Given the description of an element on the screen output the (x, y) to click on. 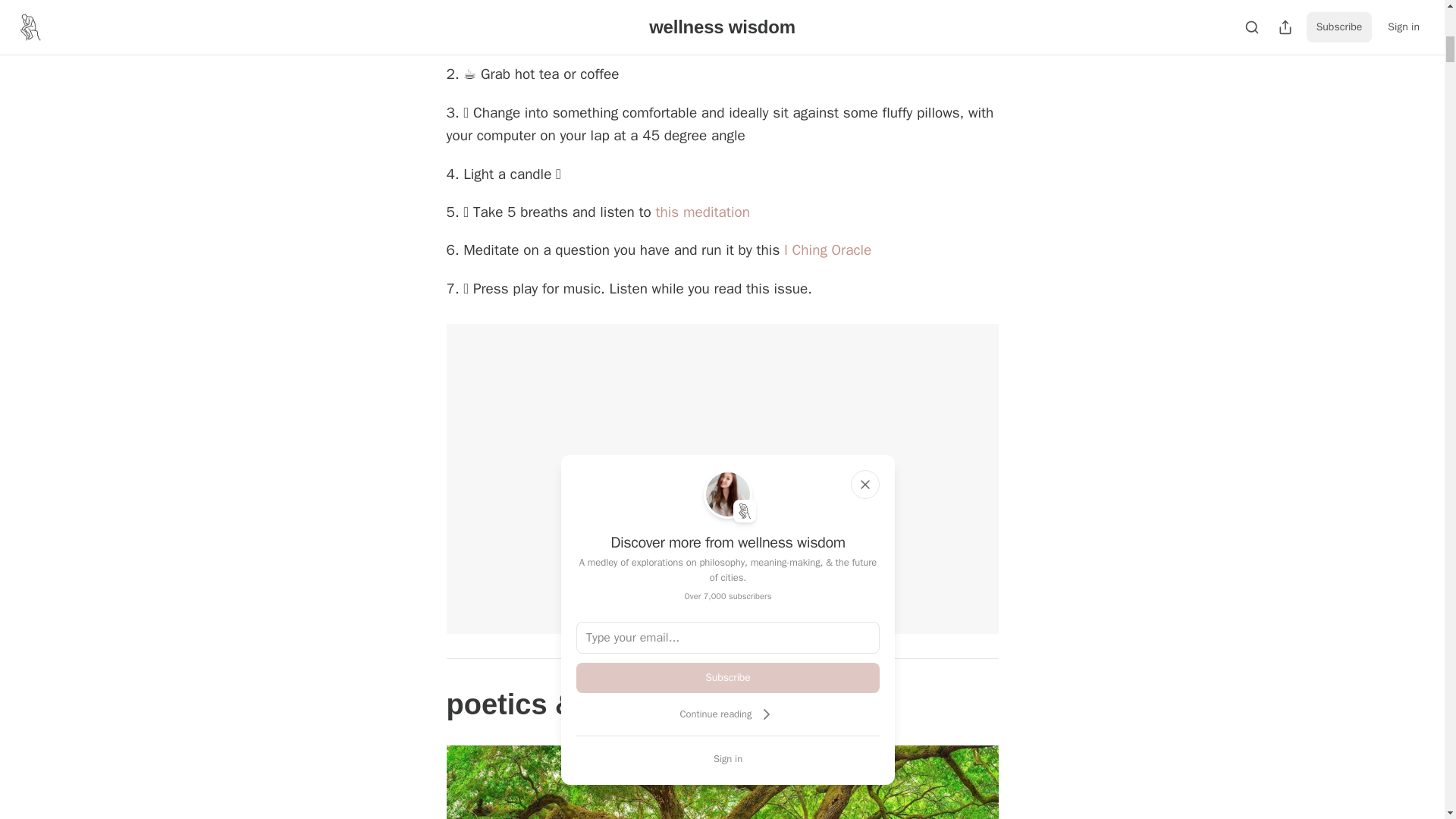
Subscribe (727, 677)
Sign in (727, 758)
I Ching Oracle (827, 249)
this meditation (702, 212)
your web browser (647, 13)
